Given the description of an element on the screen output the (x, y) to click on. 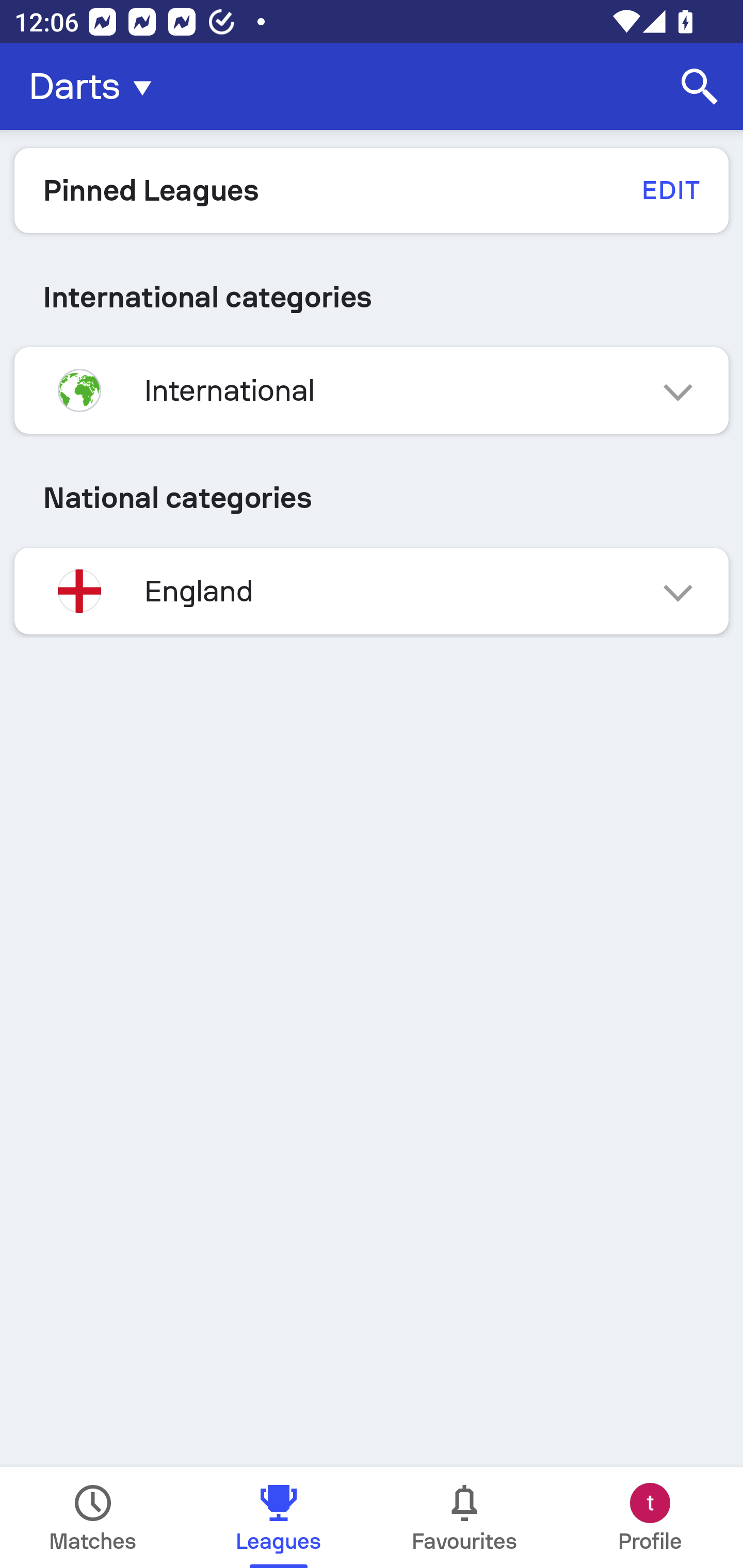
Darts (96, 86)
Search (699, 86)
Pinned Leagues EDIT (371, 190)
EDIT (670, 190)
International categories (371, 296)
International (371, 390)
National categories (371, 497)
England (371, 591)
Matches (92, 1517)
Favourites (464, 1517)
Profile (650, 1517)
